Given the description of an element on the screen output the (x, y) to click on. 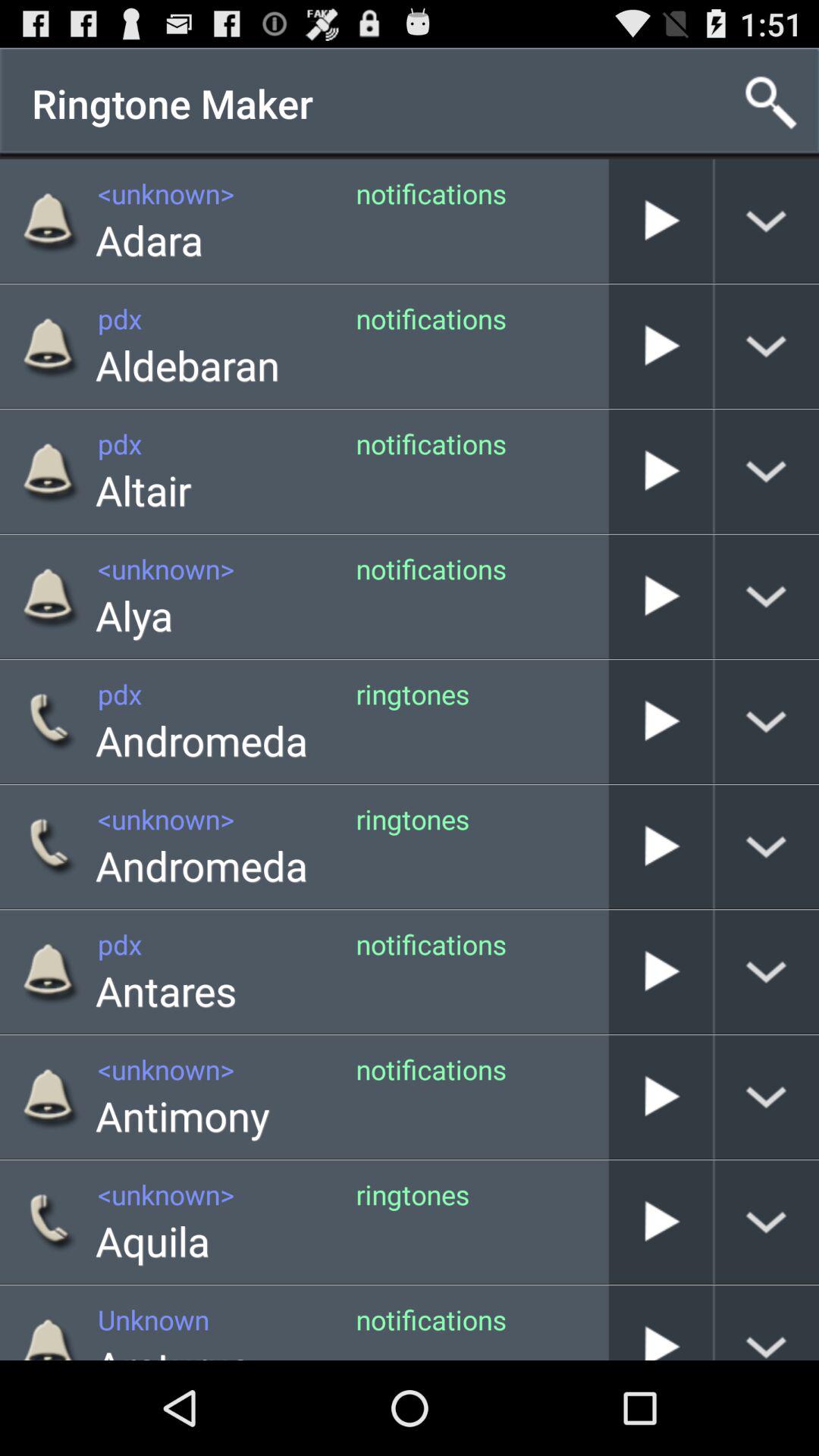
play the ringtone (660, 846)
